Given the description of an element on the screen output the (x, y) to click on. 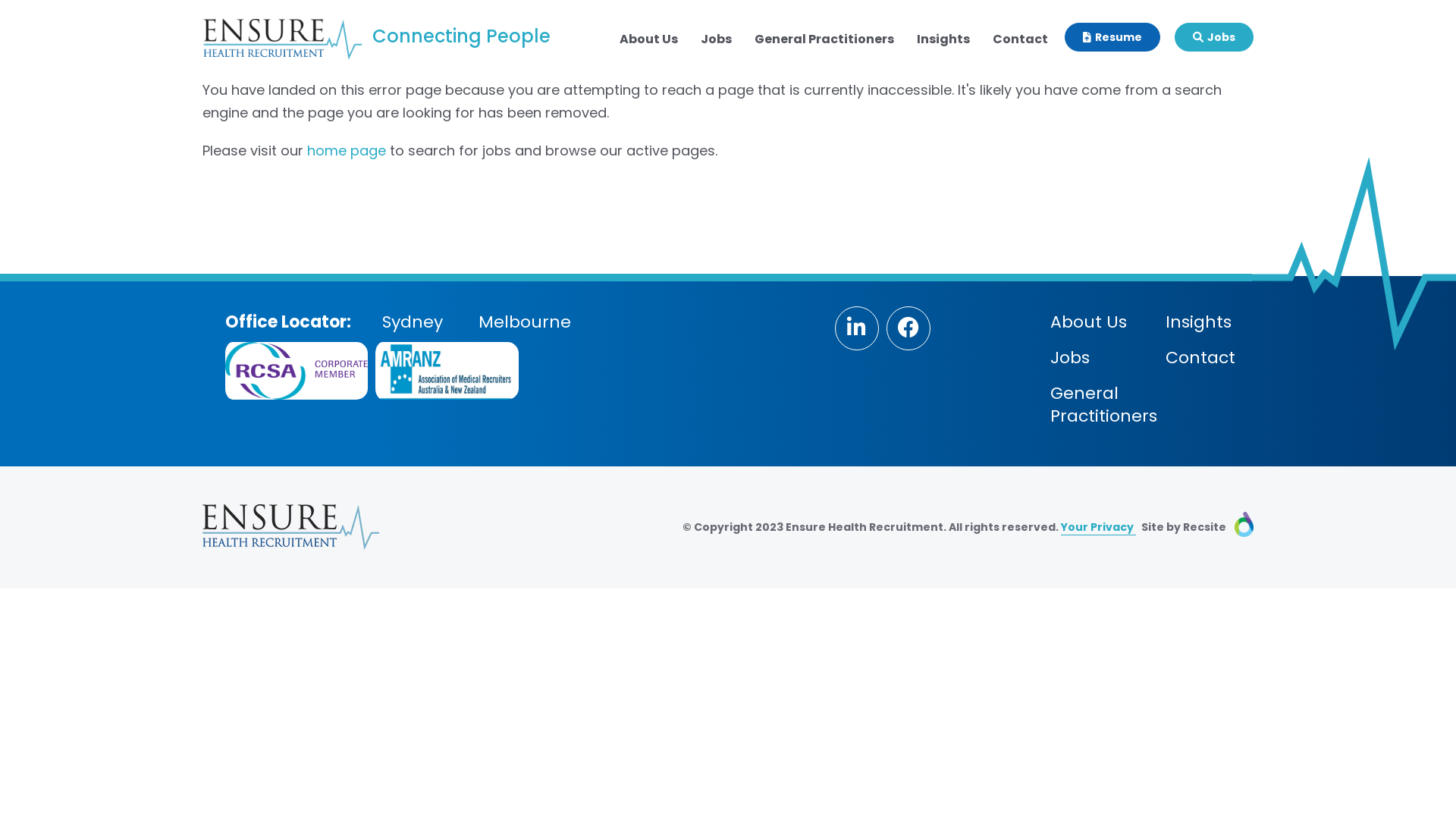
Sydney Element type: text (412, 322)
Melbourne Element type: text (524, 322)
General Practitioners Element type: text (824, 38)
Insights Element type: text (1198, 322)
home page Element type: text (346, 150)
Jobs Element type: text (1068, 357)
General Practitioners Element type: text (1102, 404)
Jobs Element type: text (1213, 36)
Site by Recsite Element type: text (1194, 526)
Contact Element type: text (1200, 357)
About Us Element type: text (1087, 322)
Your Privacy Element type: text (1097, 527)
Jobs Element type: text (715, 38)
Resume Element type: text (1112, 36)
About Us Element type: text (648, 38)
Contact Element type: text (1020, 38)
Insights Element type: text (942, 38)
